Given the description of an element on the screen output the (x, y) to click on. 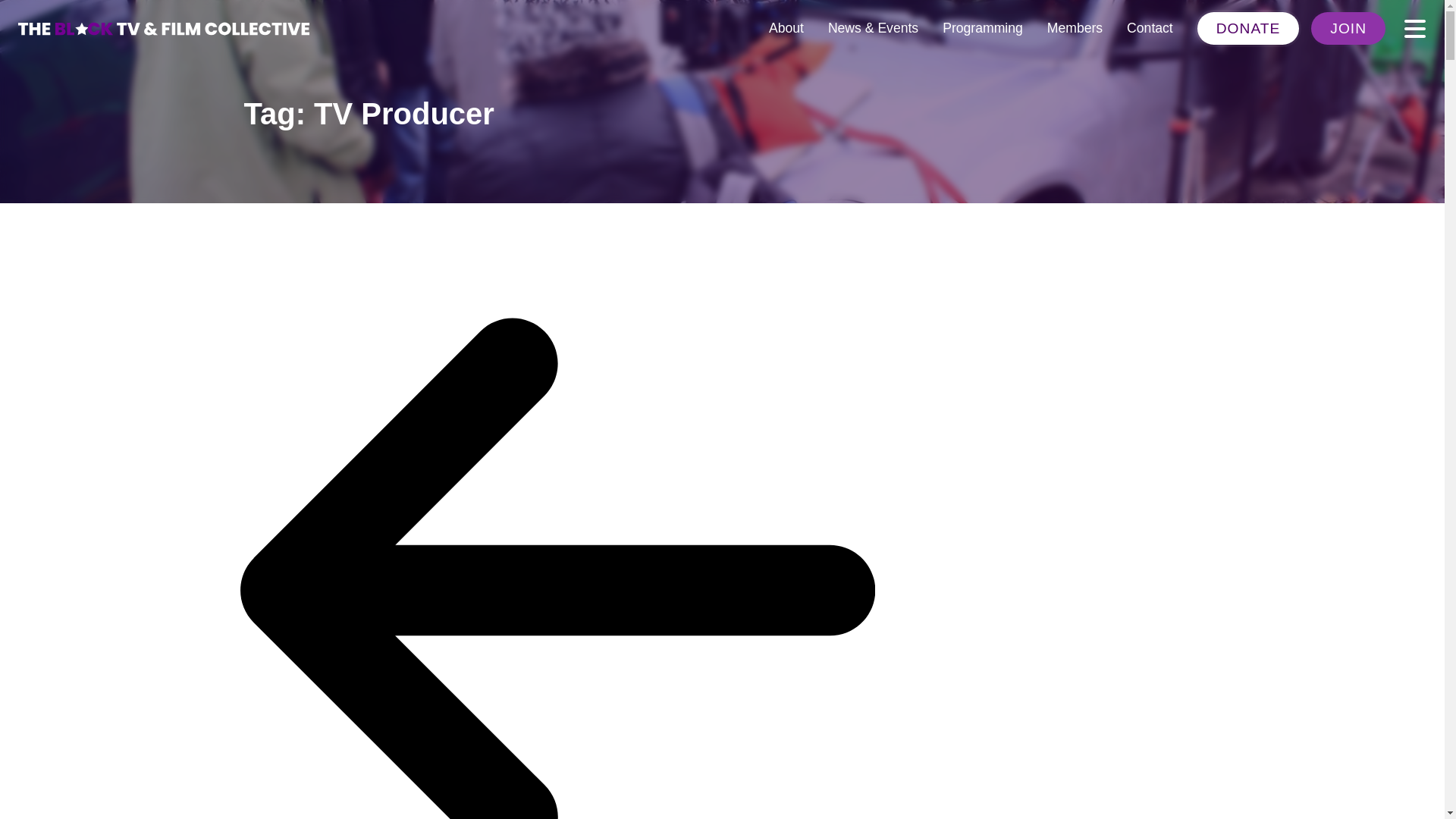
Members (1075, 28)
JOIN (1348, 28)
DONATE (1248, 28)
About (786, 28)
Contact (1150, 28)
Programming (982, 28)
